Given the description of an element on the screen output the (x, y) to click on. 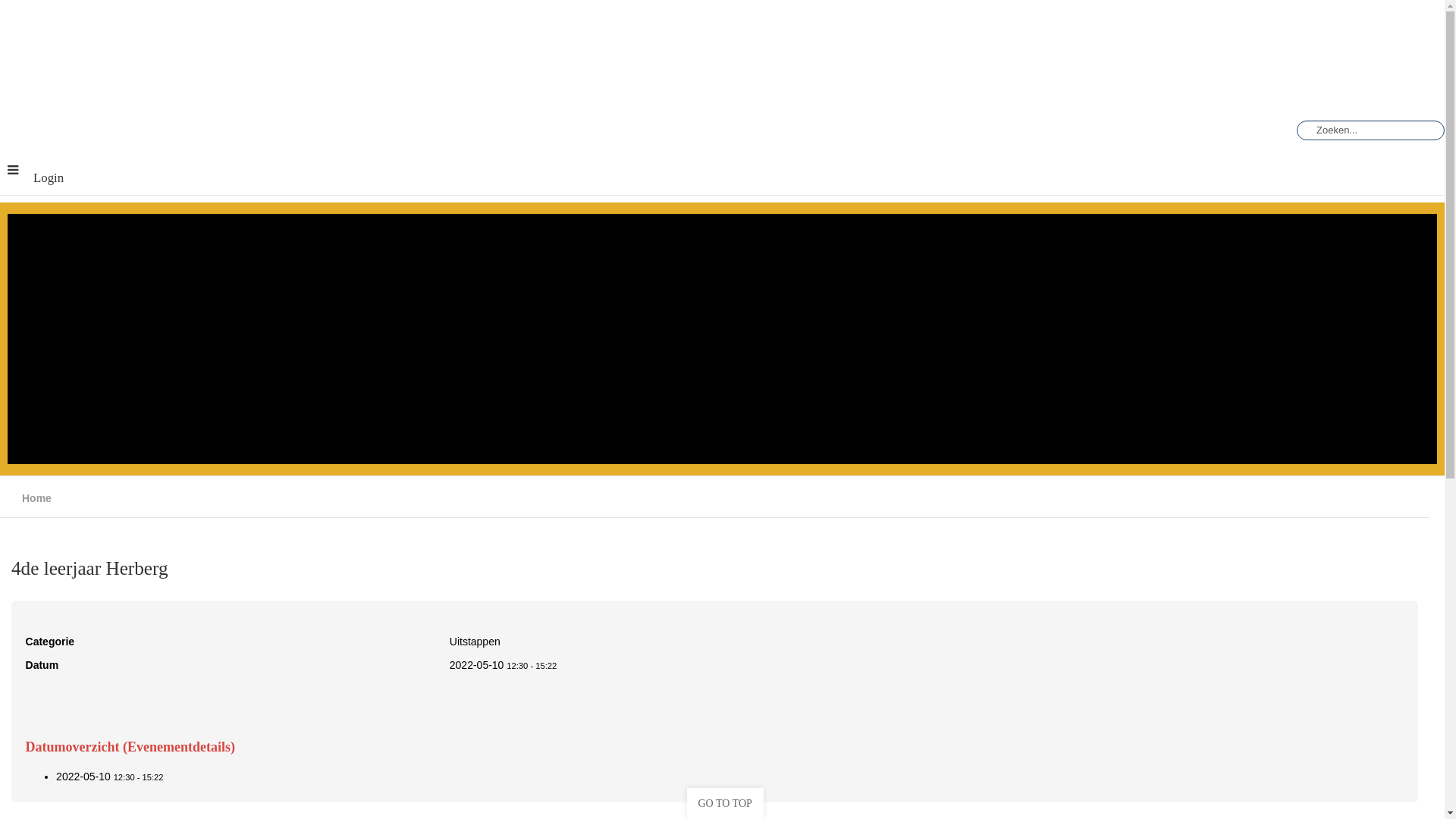
U bevindt zich hier:  Element type: hover (16, 497)
